Given the description of an element on the screen output the (x, y) to click on. 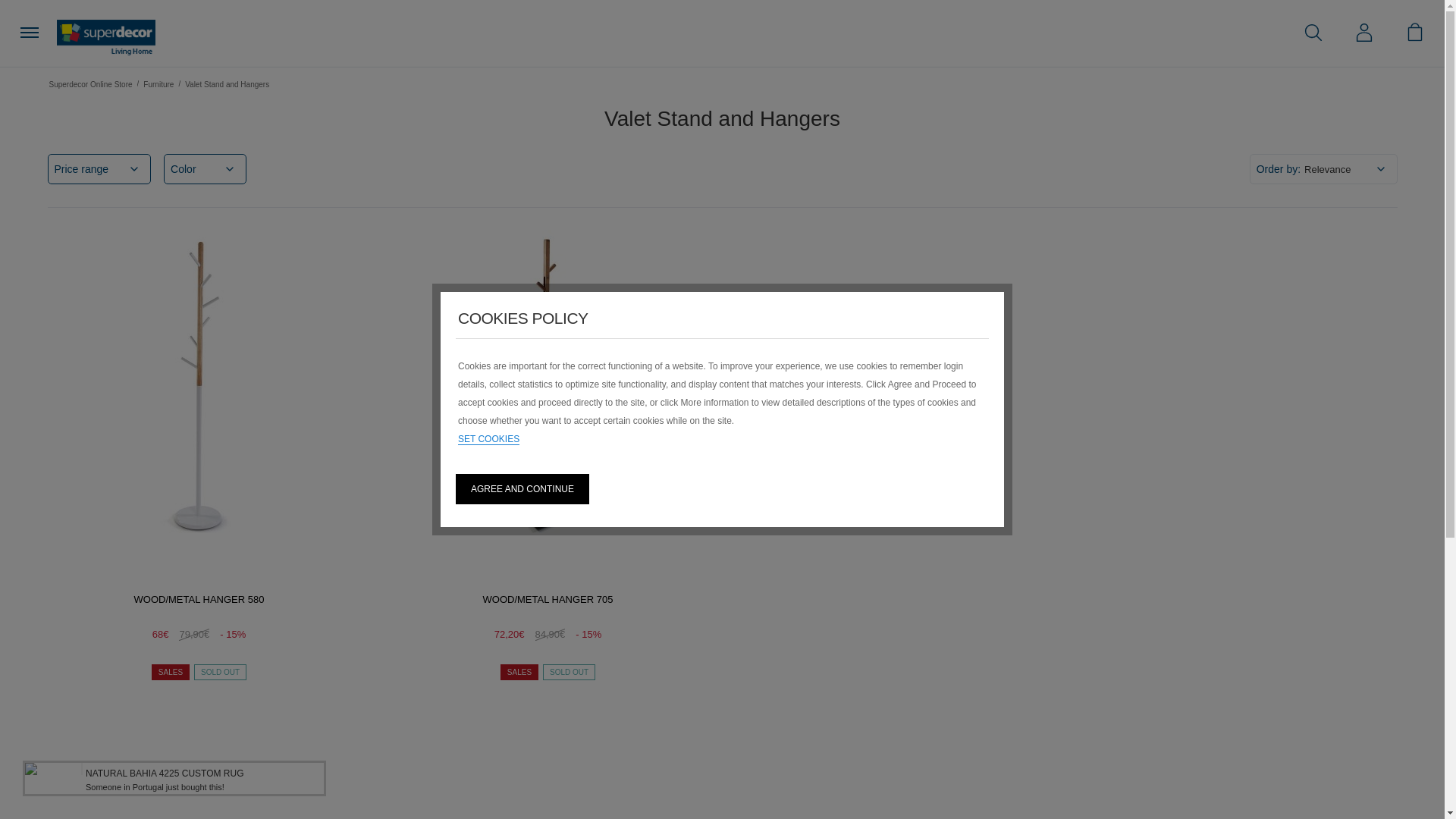
SET COOKIES (488, 439)
AGREE AND CONTINUE (522, 489)
